Given the description of an element on the screen output the (x, y) to click on. 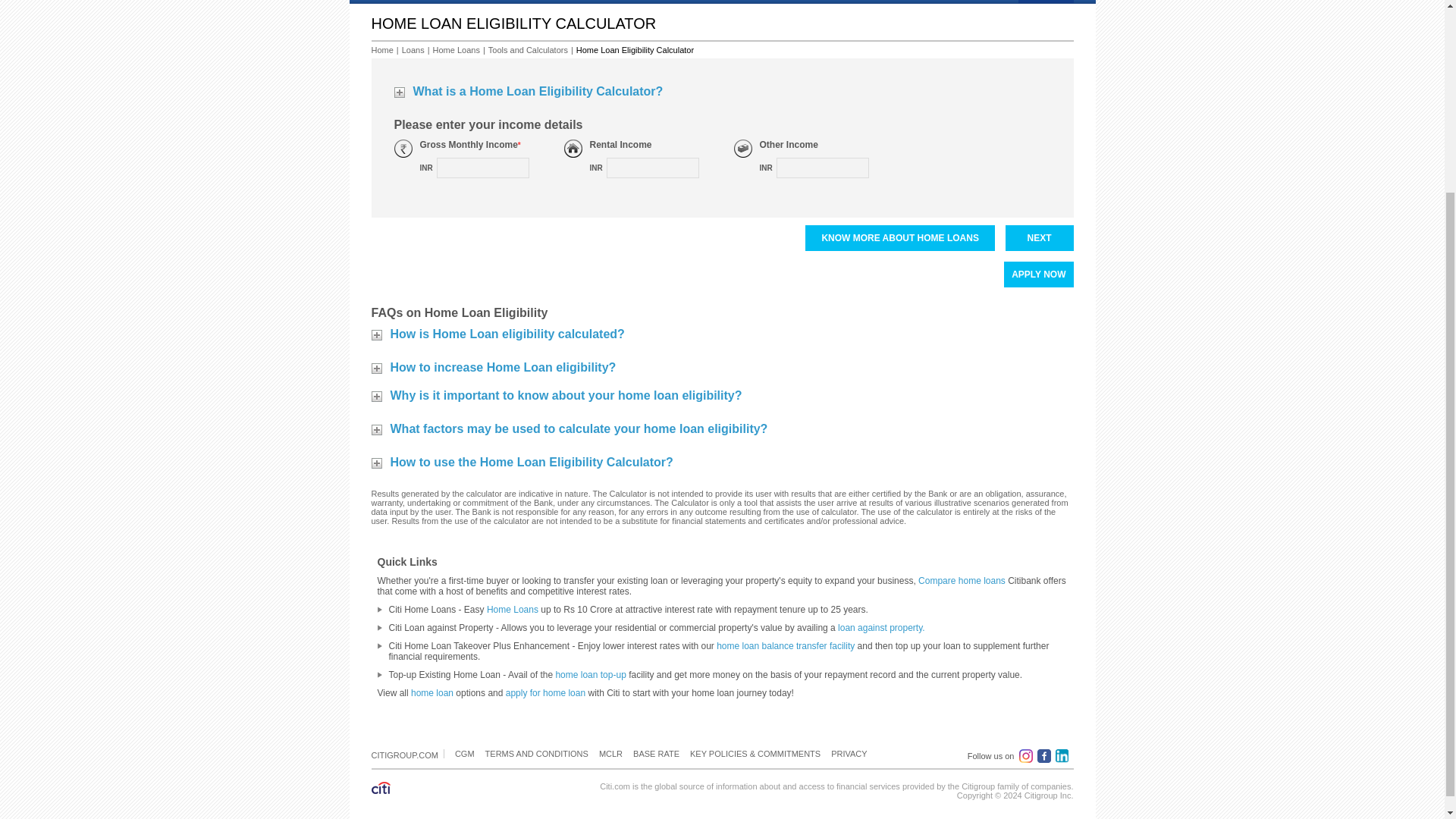
Home Loans (456, 49)
Banking (426, 2)
Loans (413, 49)
Banking (426, 2)
Home (382, 49)
NEXT (1040, 237)
Tools and Calculators (527, 49)
Login (1045, 2)
What is a Home Loan Eligibility Calculator? (528, 95)
Home (384, 2)
Login (1045, 2)
KNOW MORE ABOUT HOME LOANS (899, 237)
APPLY NOW (1038, 274)
Home (384, 2)
